Given the description of an element on the screen output the (x, y) to click on. 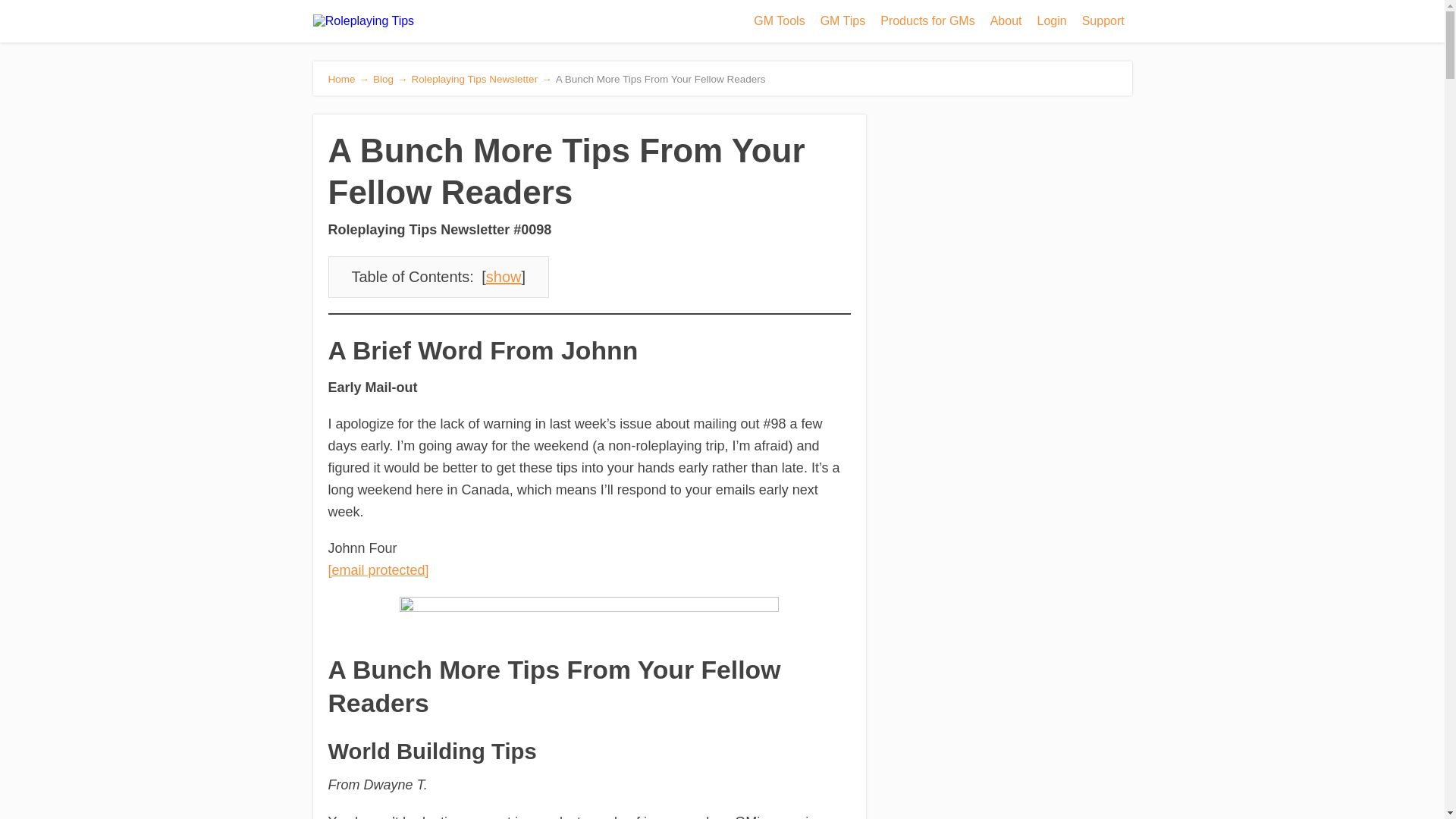
GM Tools (778, 21)
Products for GMs (926, 21)
About (1005, 21)
show (503, 276)
Support (1103, 21)
Login (1051, 21)
GM Tips (842, 21)
